Given the description of an element on the screen output the (x, y) to click on. 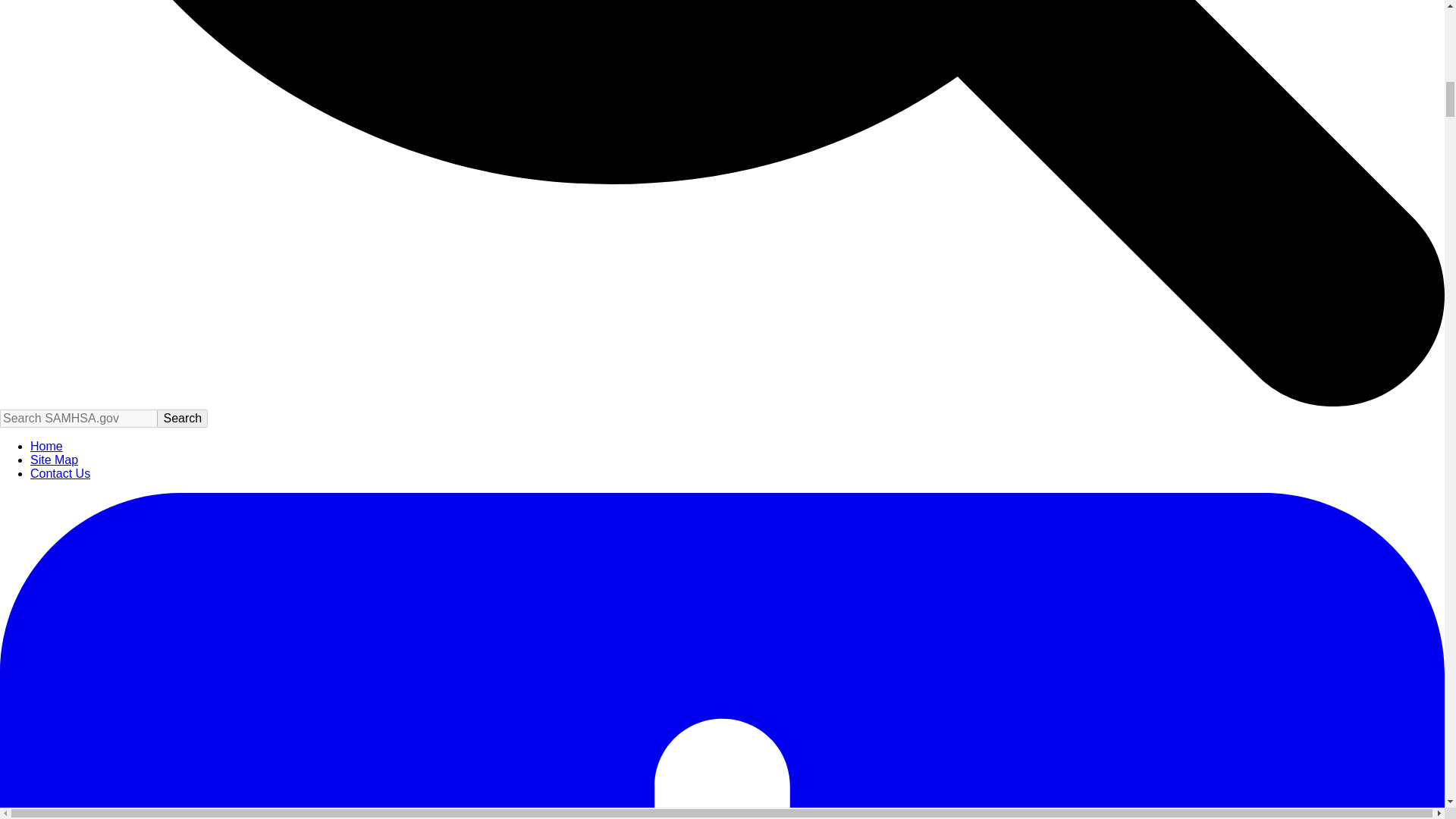
Contact Us (60, 472)
Search (182, 418)
Site Map (54, 459)
Search (182, 418)
Search (182, 418)
Contact Us (60, 472)
Home (46, 445)
